Given the description of an element on the screen output the (x, y) to click on. 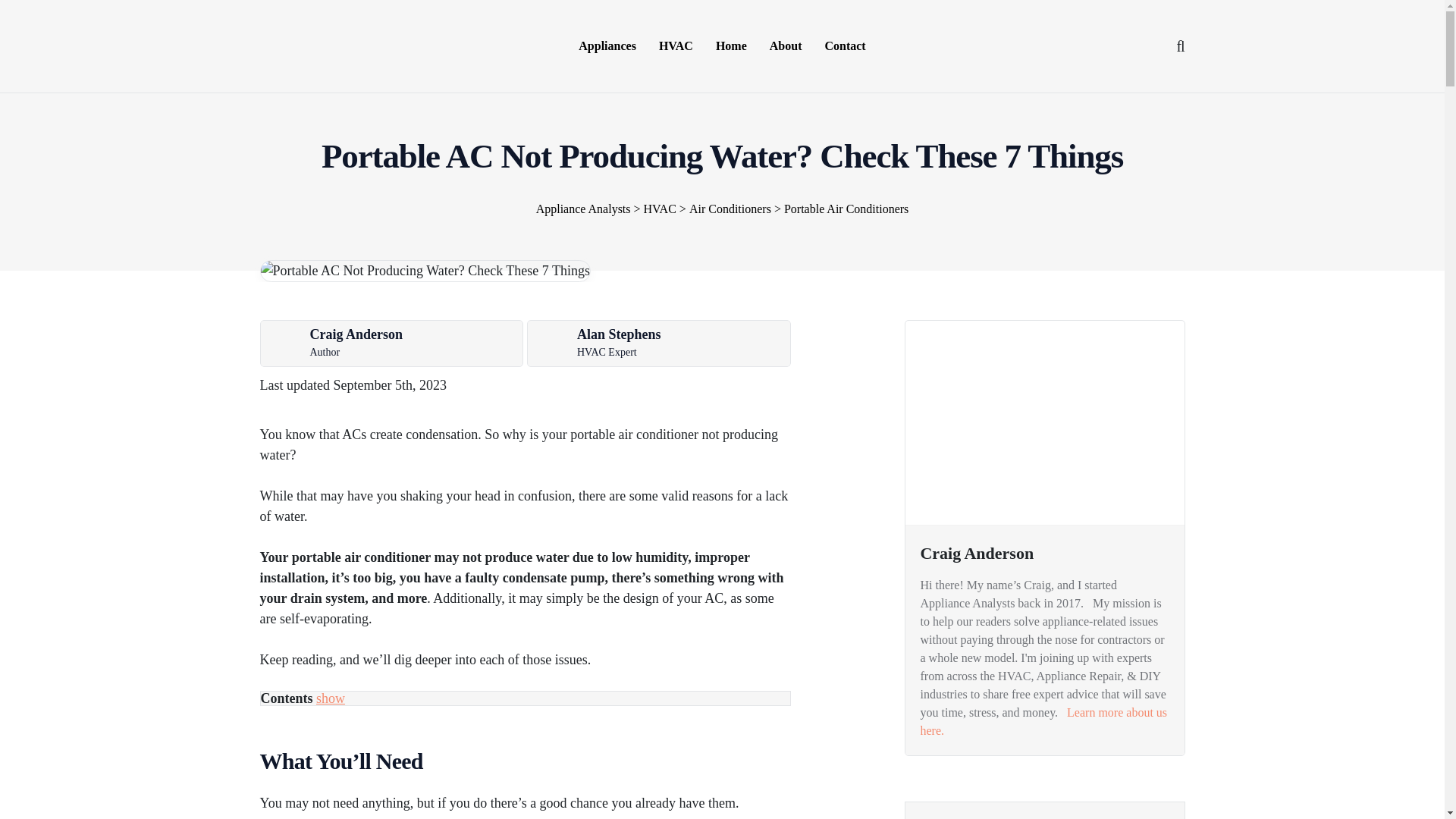
Appliance Analysts (315, 44)
Appliances (607, 45)
HVAC (675, 45)
